Given the description of an element on the screen output the (x, y) to click on. 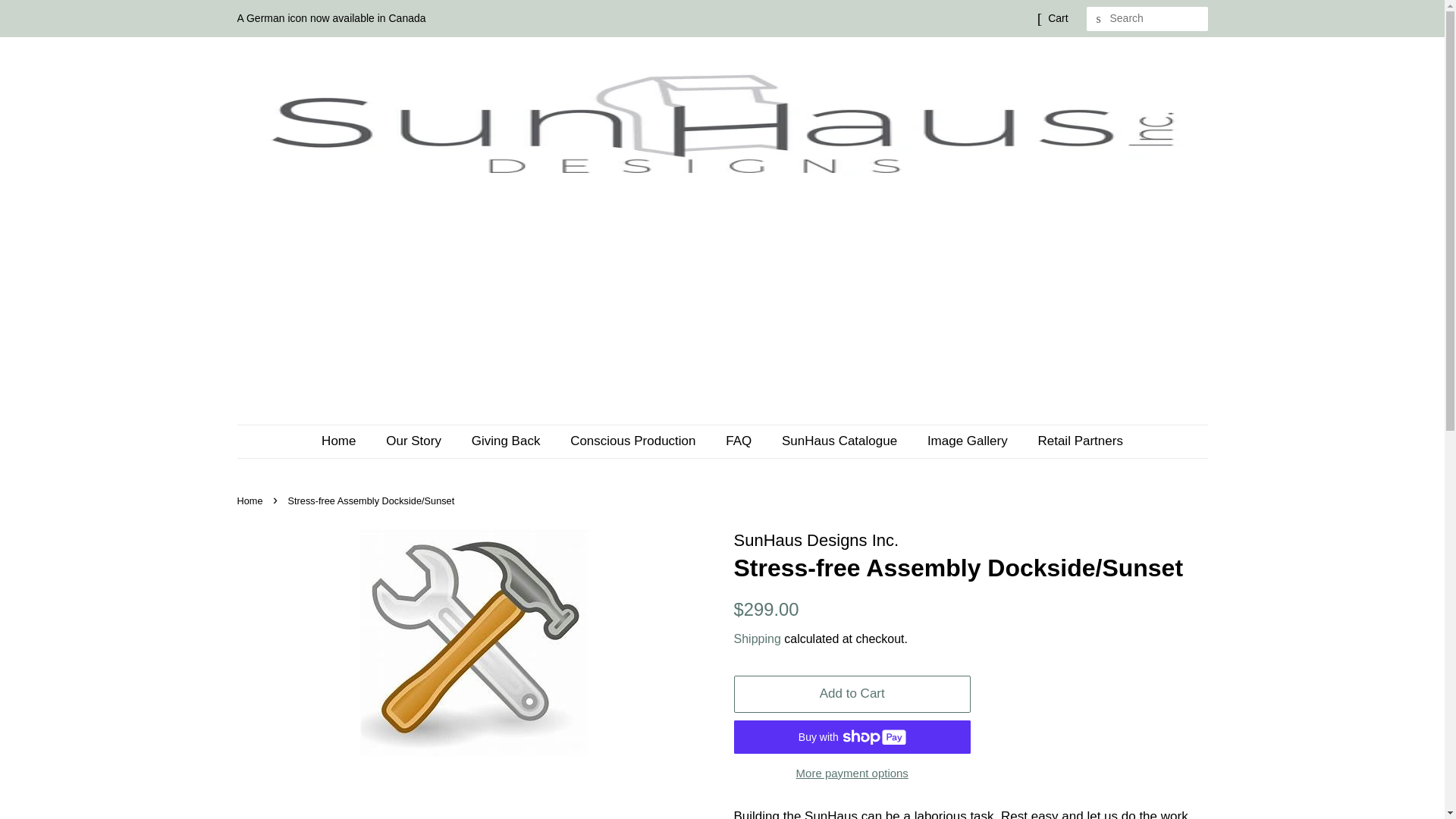
Cart (1057, 18)
Image Gallery (969, 441)
Conscious Production (634, 441)
Search (1097, 18)
FAQ (740, 441)
Giving Back (508, 441)
Our Story (415, 441)
Add to Cart (852, 693)
Home (250, 500)
SunHaus Catalogue (841, 441)
